Given the description of an element on the screen output the (x, y) to click on. 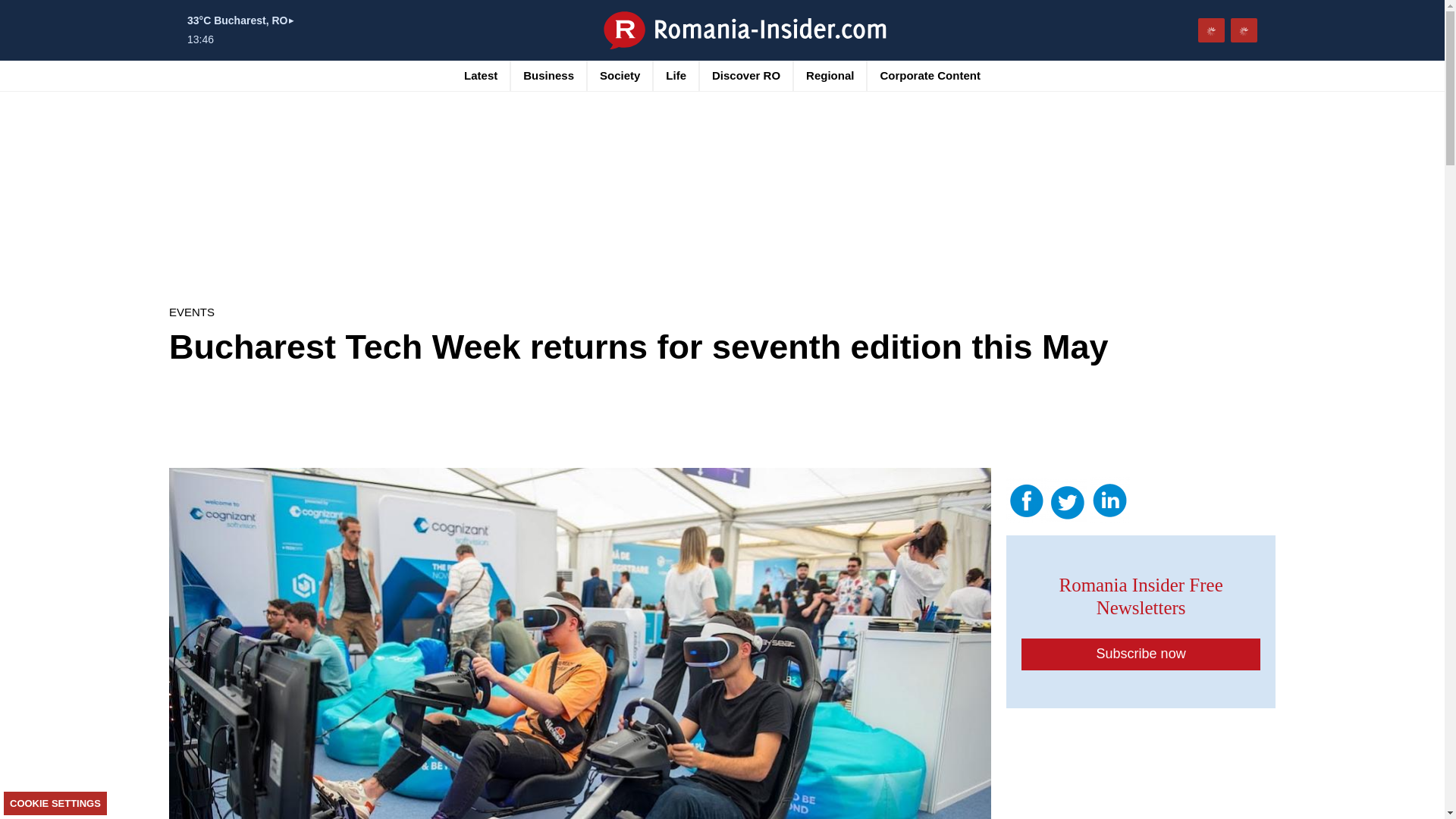
Society (619, 74)
Latest (480, 74)
Business (547, 74)
